Given the description of an element on the screen output the (x, y) to click on. 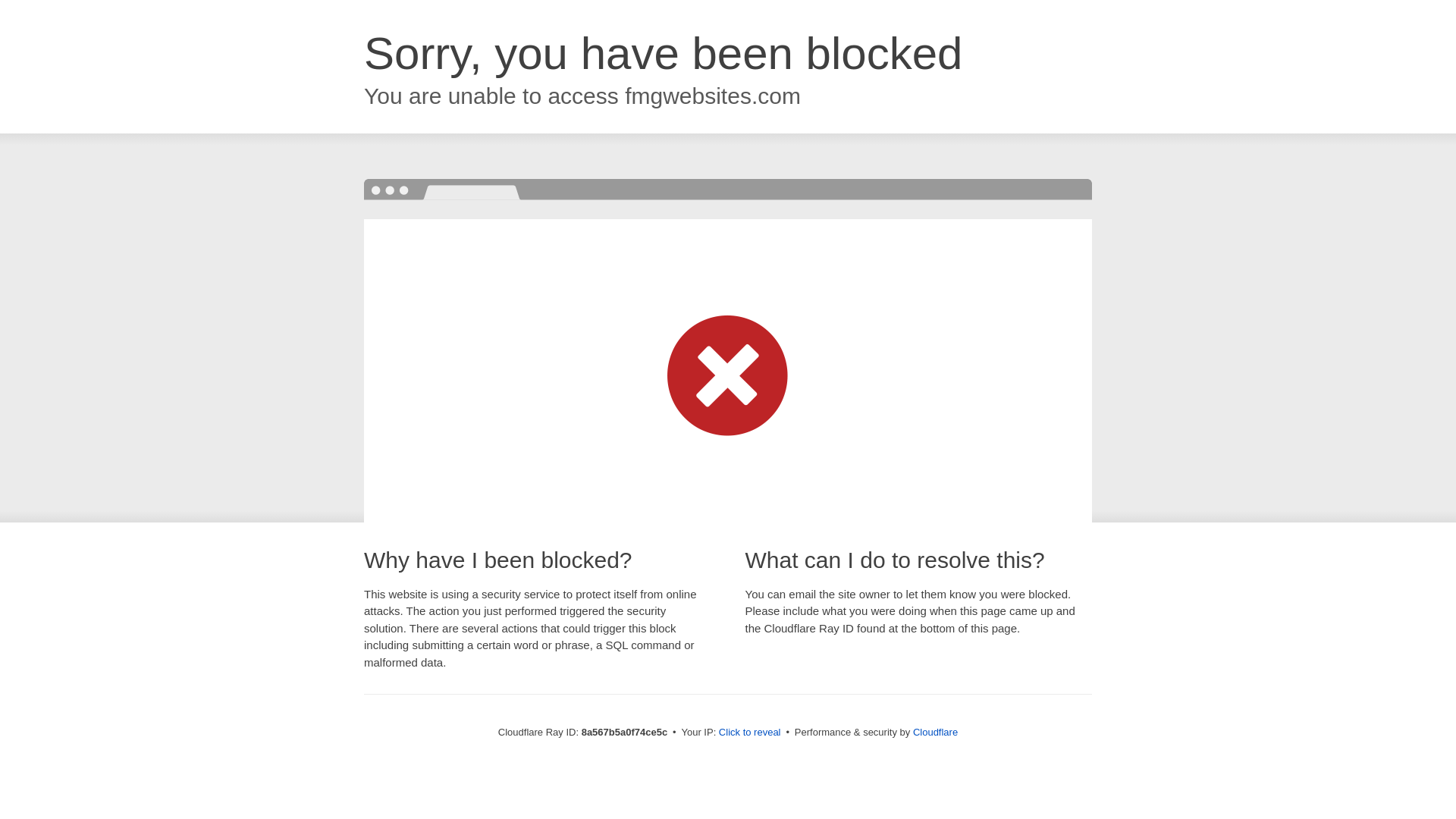
Click to reveal (749, 732)
Cloudflare (935, 731)
